Given the description of an element on the screen output the (x, y) to click on. 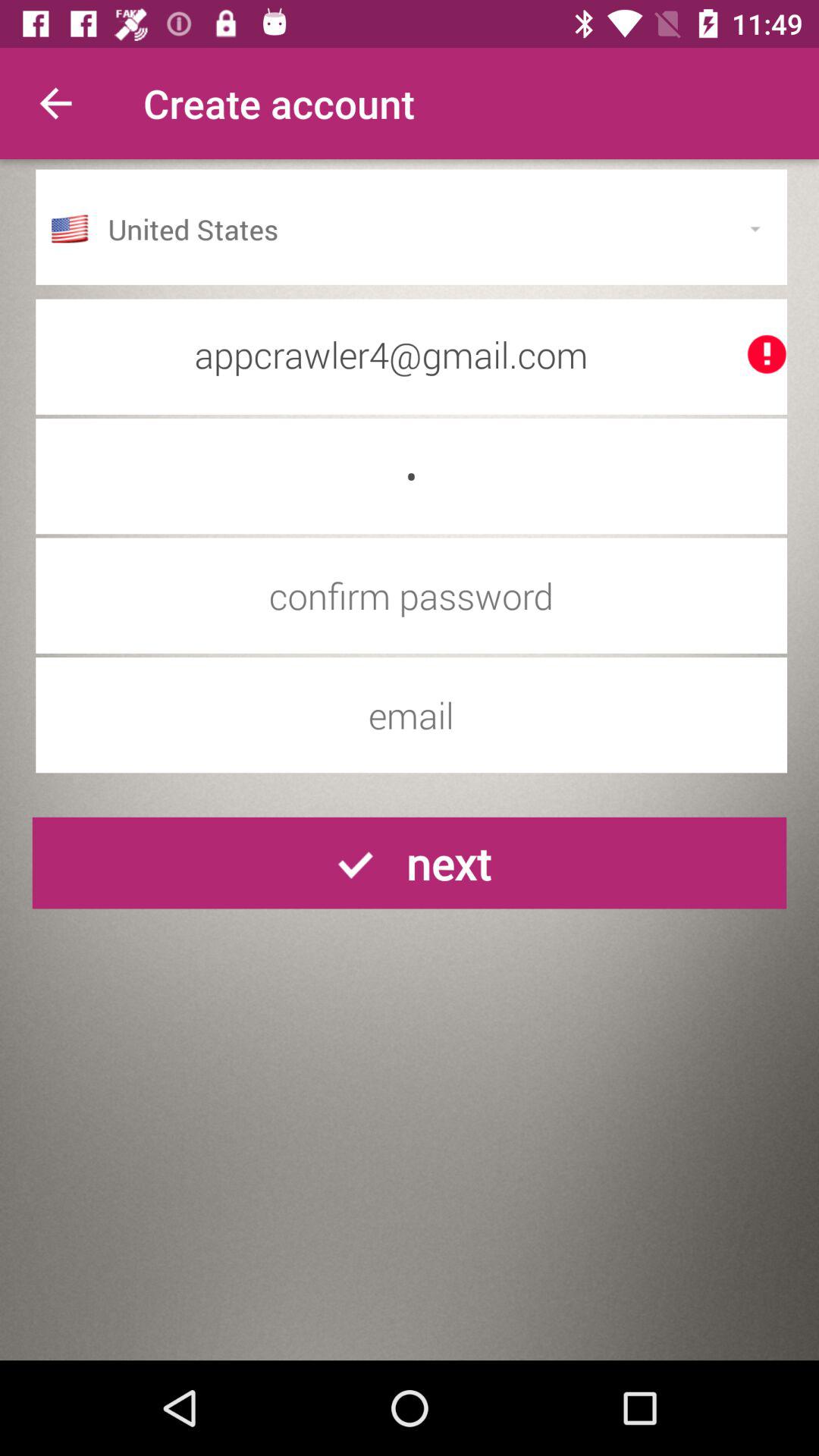
enter email (411, 715)
